Given the description of an element on the screen output the (x, y) to click on. 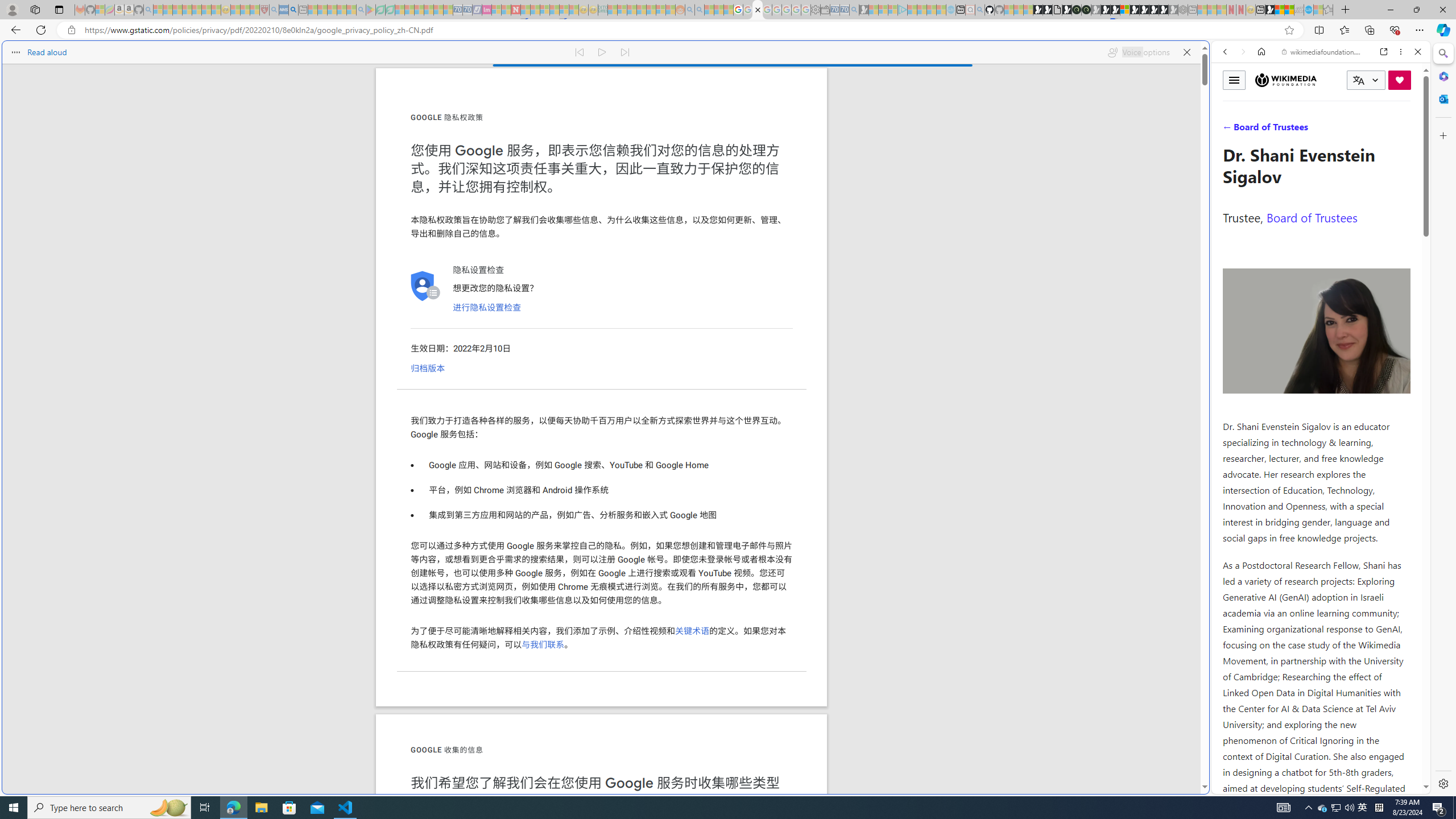
Shani Evenstein (1316, 330)
